Given the description of an element on the screen output the (x, y) to click on. 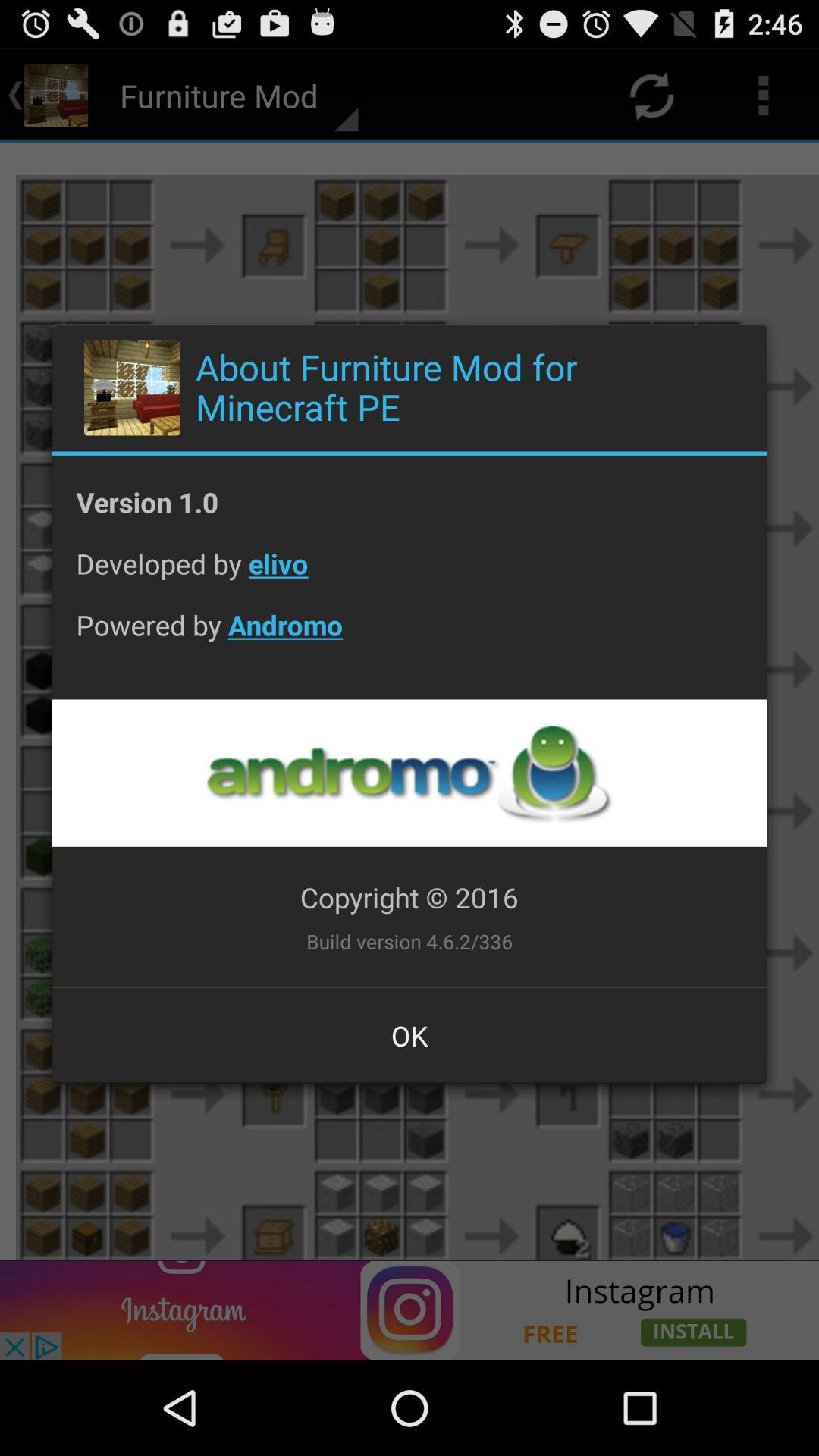
press item below version 1.0 item (409, 575)
